Given the description of an element on the screen output the (x, y) to click on. 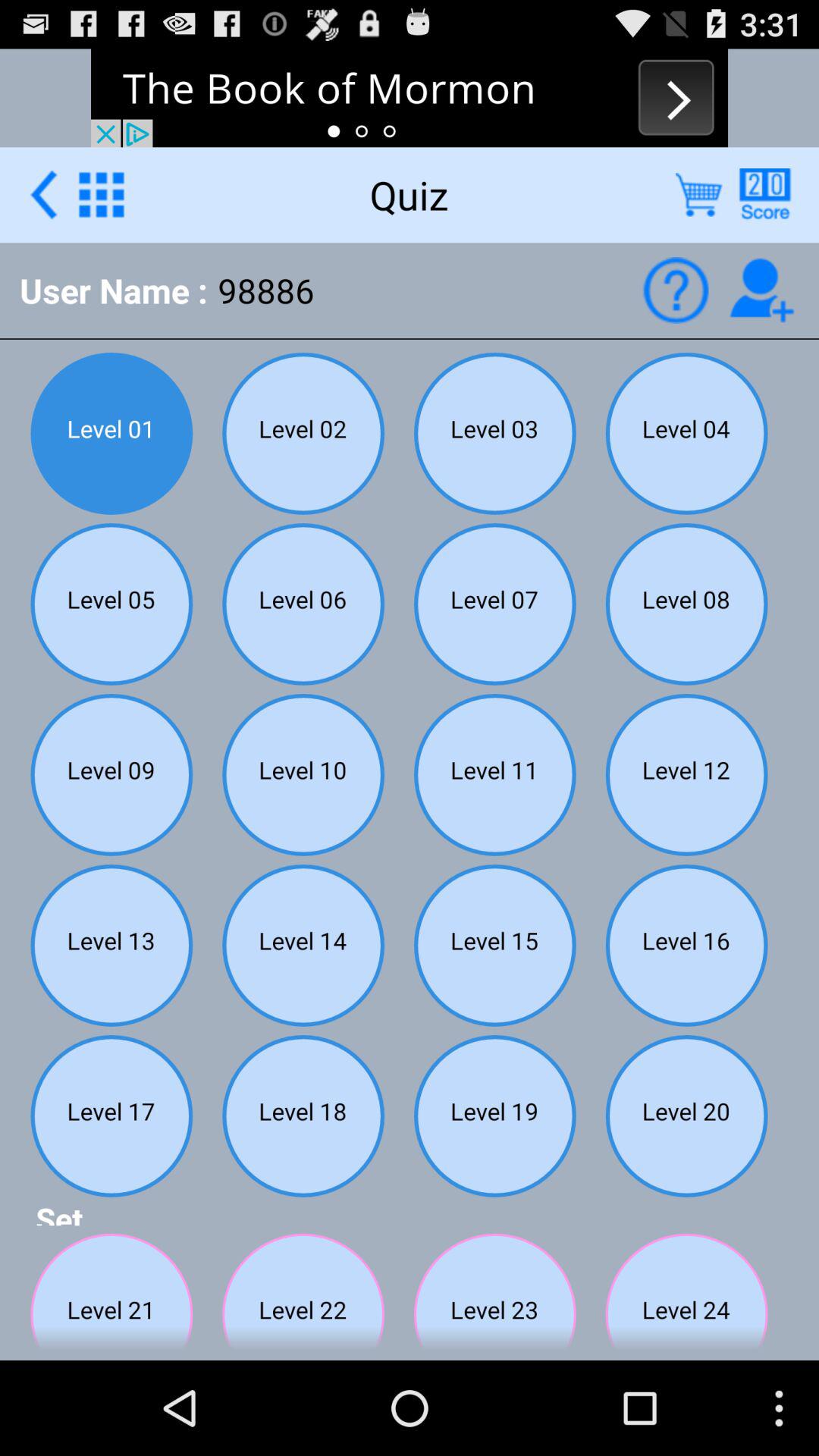
go back (43, 194)
